Given the description of an element on the screen output the (x, y) to click on. 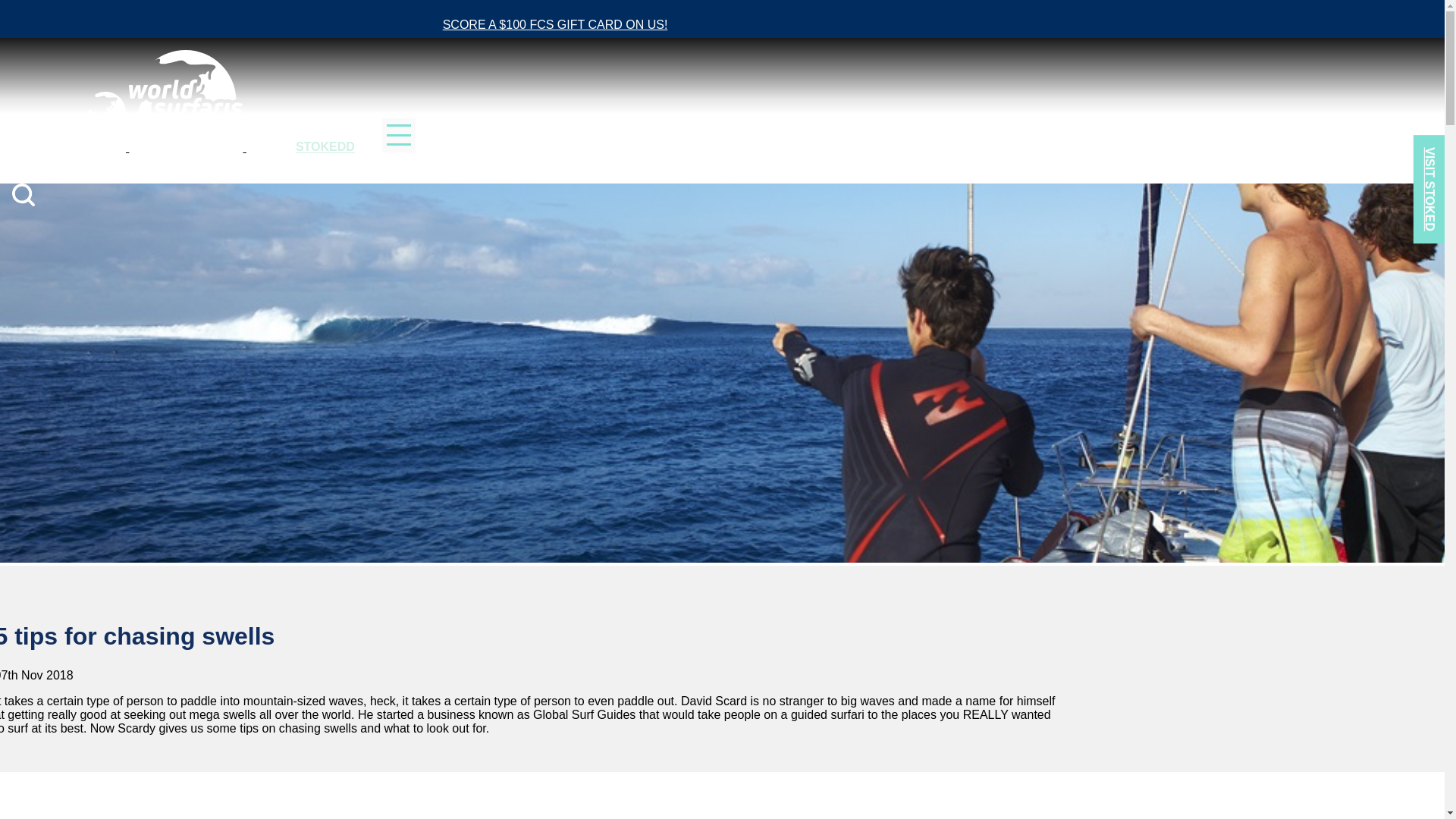
FEATURED TRIPS (275, 168)
STOKEDD (324, 146)
World Surfaris (128, 146)
REGIONS (60, 168)
FIND A SURF TRIP (156, 168)
